Given the description of an element on the screen output the (x, y) to click on. 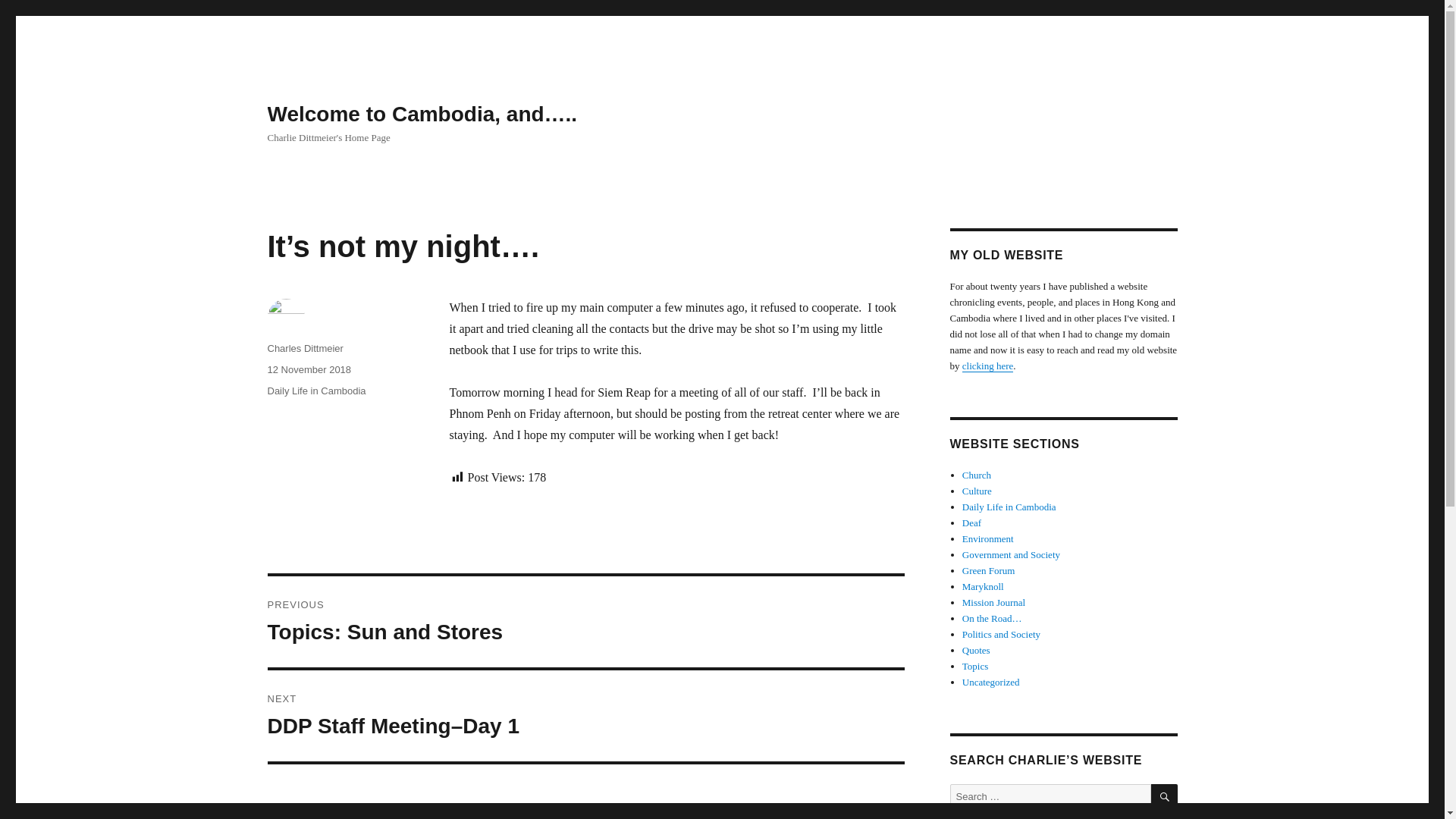
Charles Dittmeier (304, 348)
12 November 2018 (308, 369)
Maryknoll (983, 586)
Politics and Society (1001, 633)
Daily Life in Cambodia (1009, 506)
Uncategorized (991, 681)
Government and Society (1010, 554)
Green Forum (988, 570)
Culture (976, 490)
Mission Journal (993, 602)
